Given the description of an element on the screen output the (x, y) to click on. 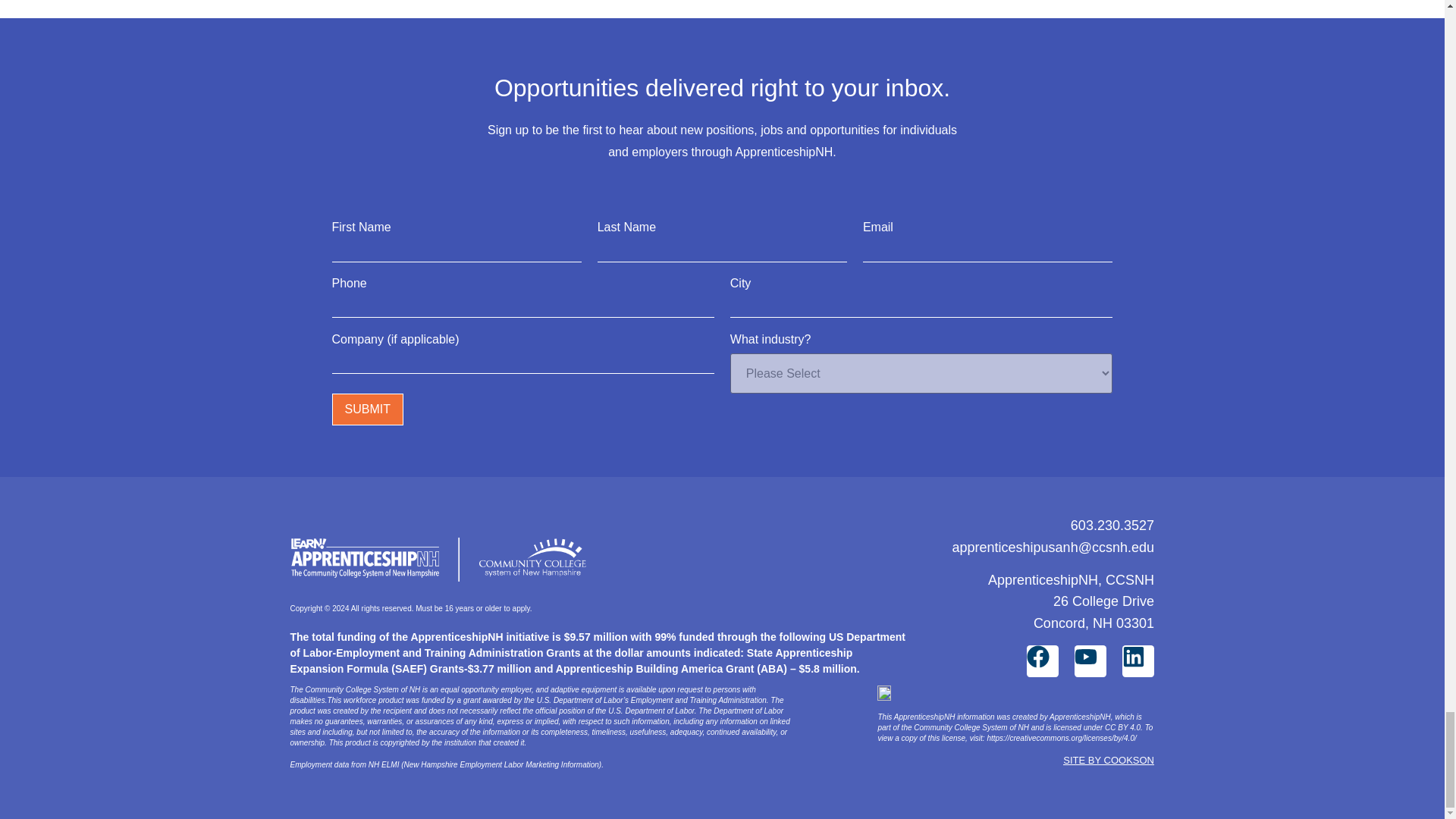
Submit (367, 409)
